Given the description of an element on the screen output the (x, y) to click on. 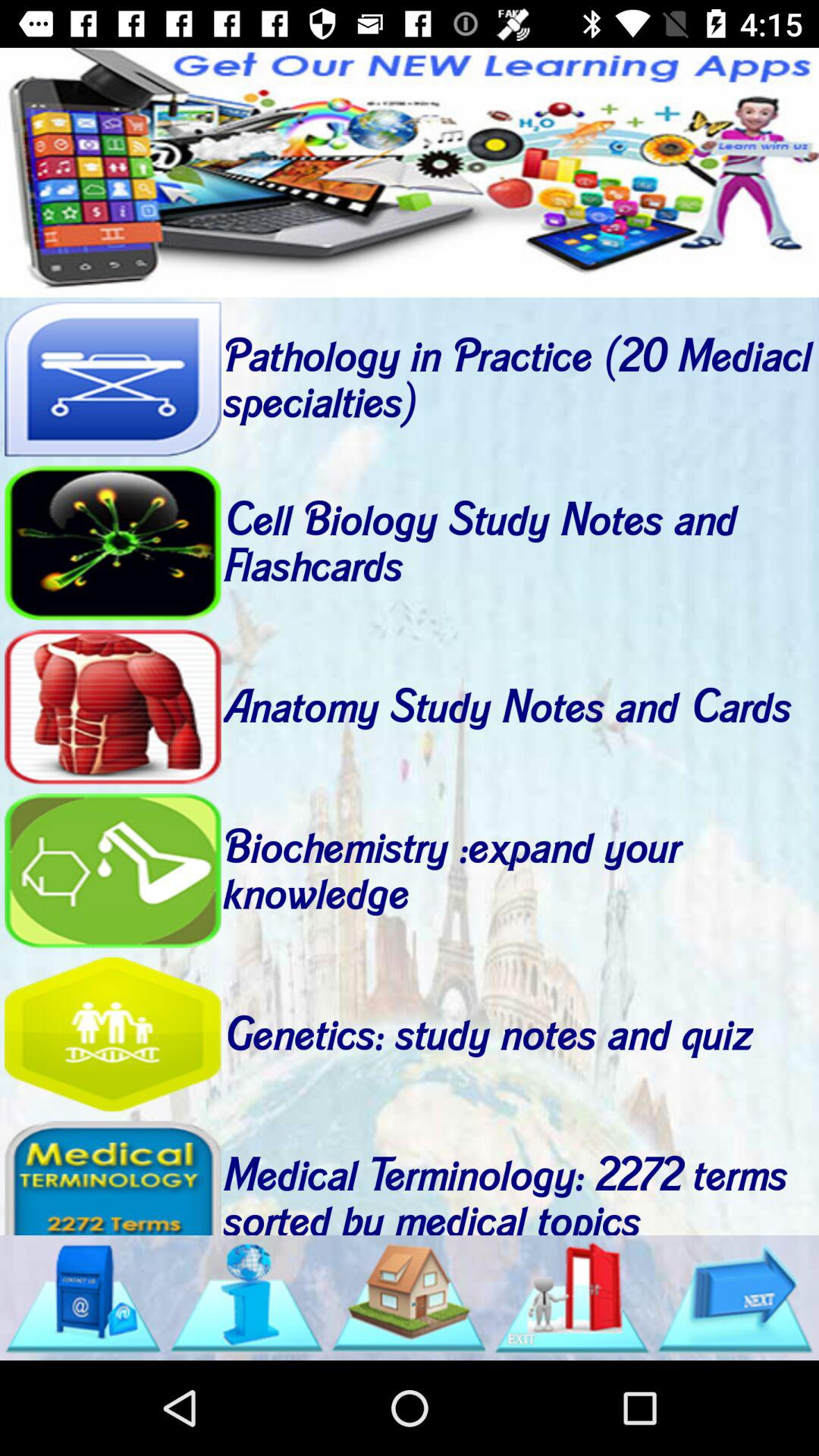
click image (571, 1297)
